Given the description of an element on the screen output the (x, y) to click on. 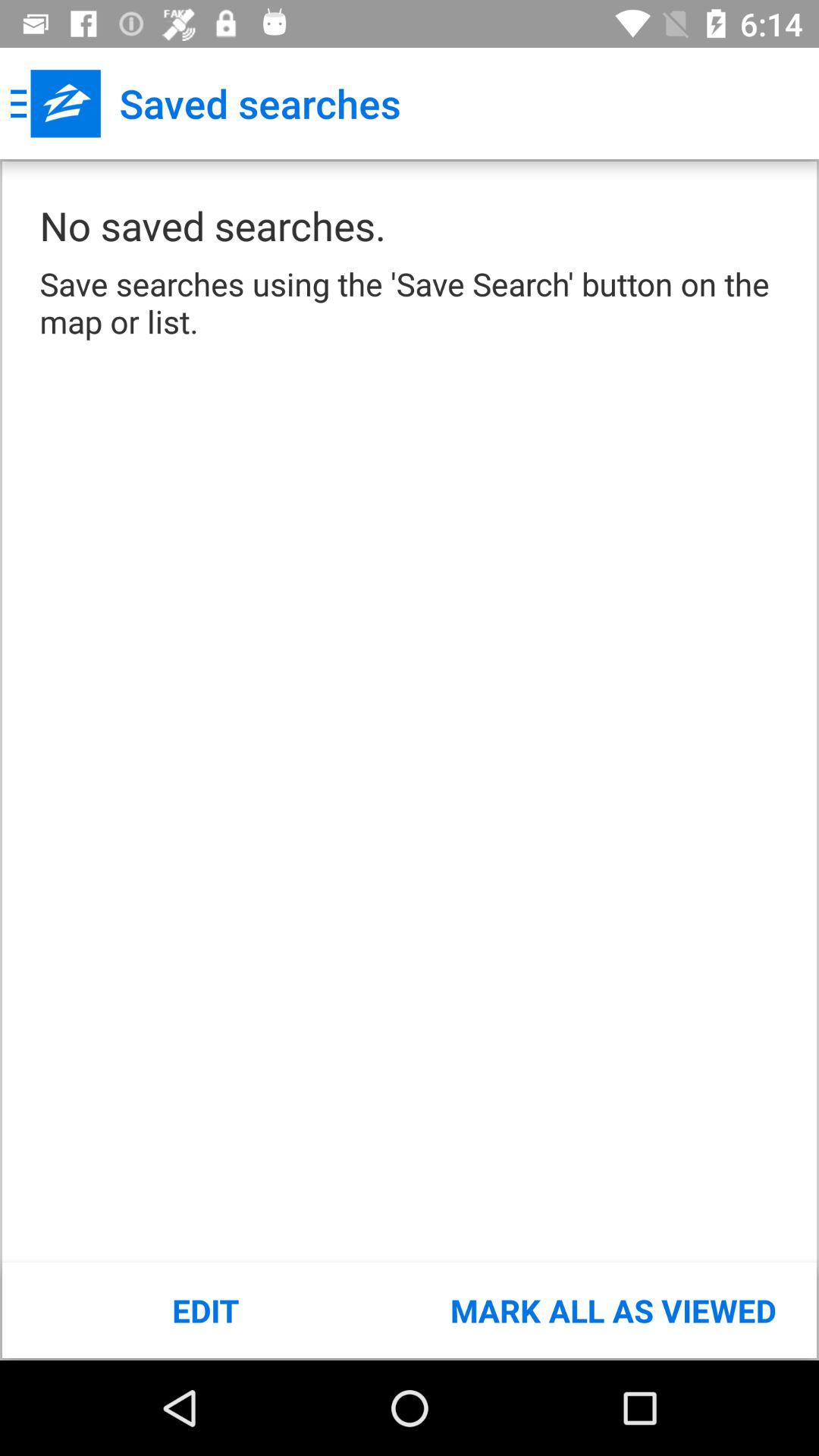
click mark all as (612, 1310)
